Given the description of an element on the screen output the (x, y) to click on. 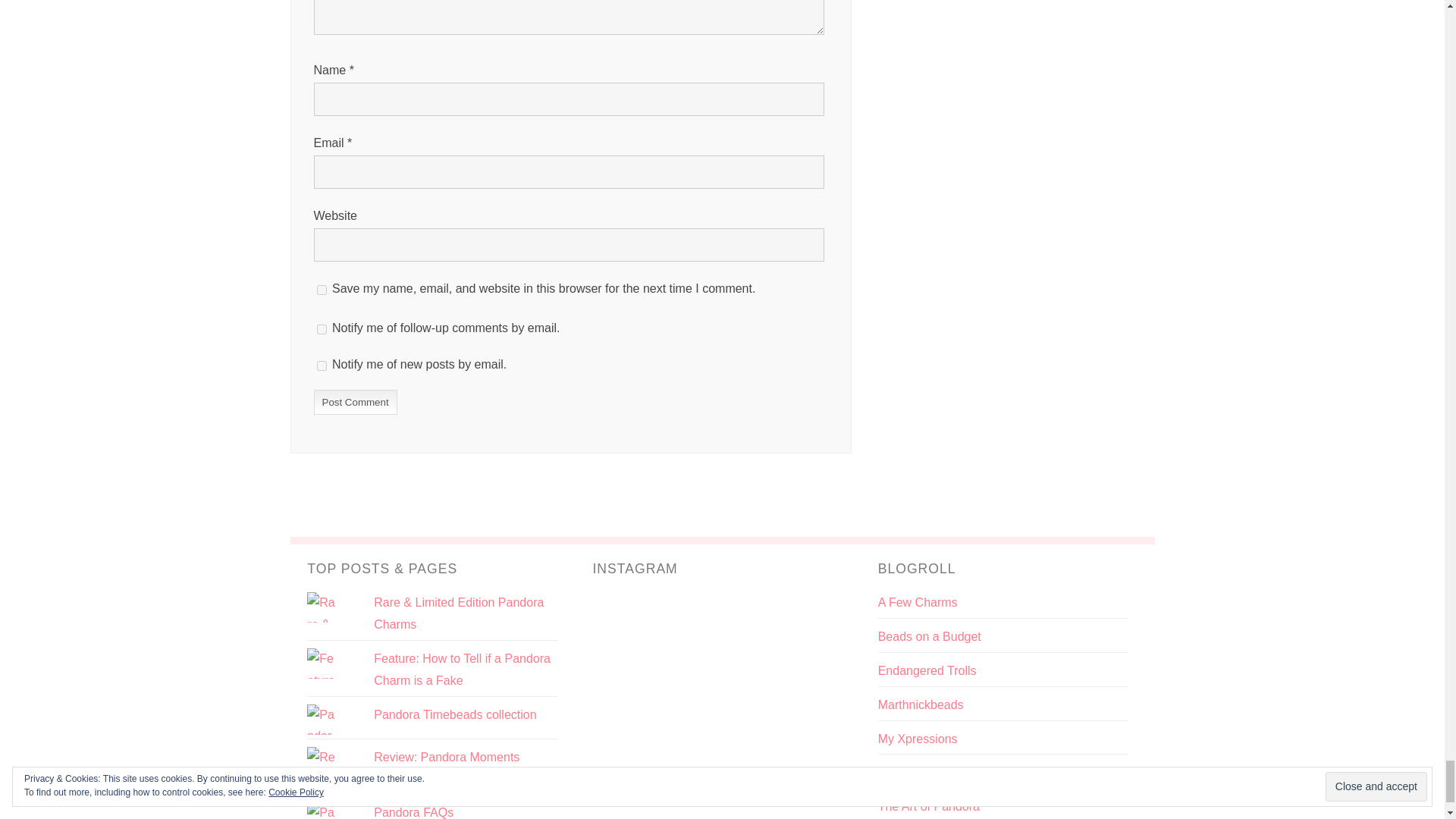
yes (321, 289)
Post Comment (355, 401)
subscribe (321, 329)
Review: Pandora Moments Bangle (446, 768)
Pandora Timebeads collection (454, 714)
Feature: How to Tell if a Pandora Charm is a Fake (462, 669)
subscribe (321, 366)
